Given the description of an element on the screen output the (x, y) to click on. 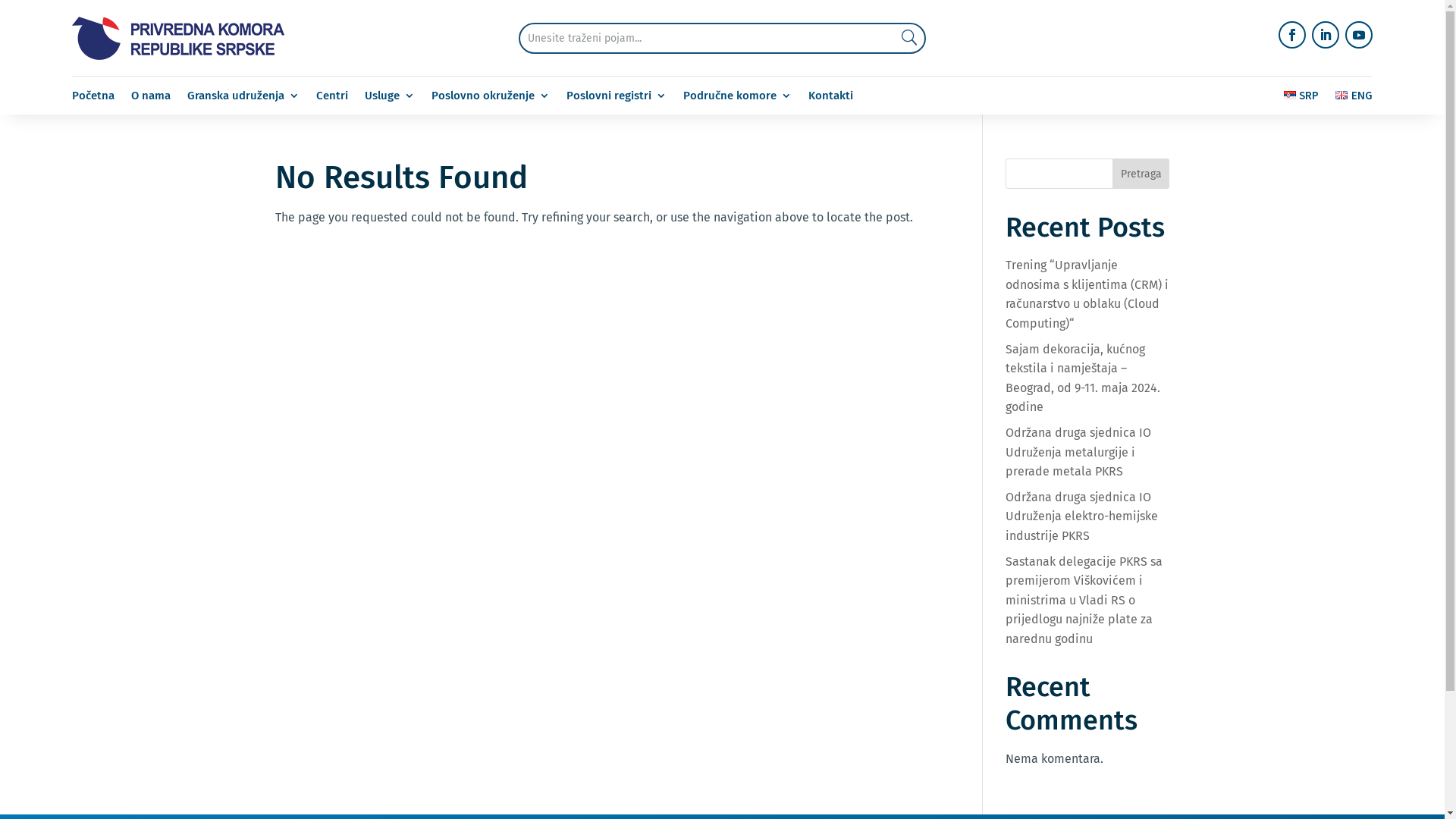
Follow on Facebook Element type: hover (1291, 34)
Poslovni registri Element type: text (616, 98)
ENG Element type: text (1353, 98)
Follow on LinkedIn Element type: hover (1325, 34)
O nama Element type: text (150, 98)
Centri Element type: text (332, 98)
Usluge Element type: text (389, 98)
Follow on Youtube Element type: hover (1358, 34)
Pretraga Element type: text (1141, 173)
SRP Element type: text (1301, 98)
Kontakti Element type: text (830, 98)
Search Element type: text (899, 38)
